Given the description of an element on the screen output the (x, y) to click on. 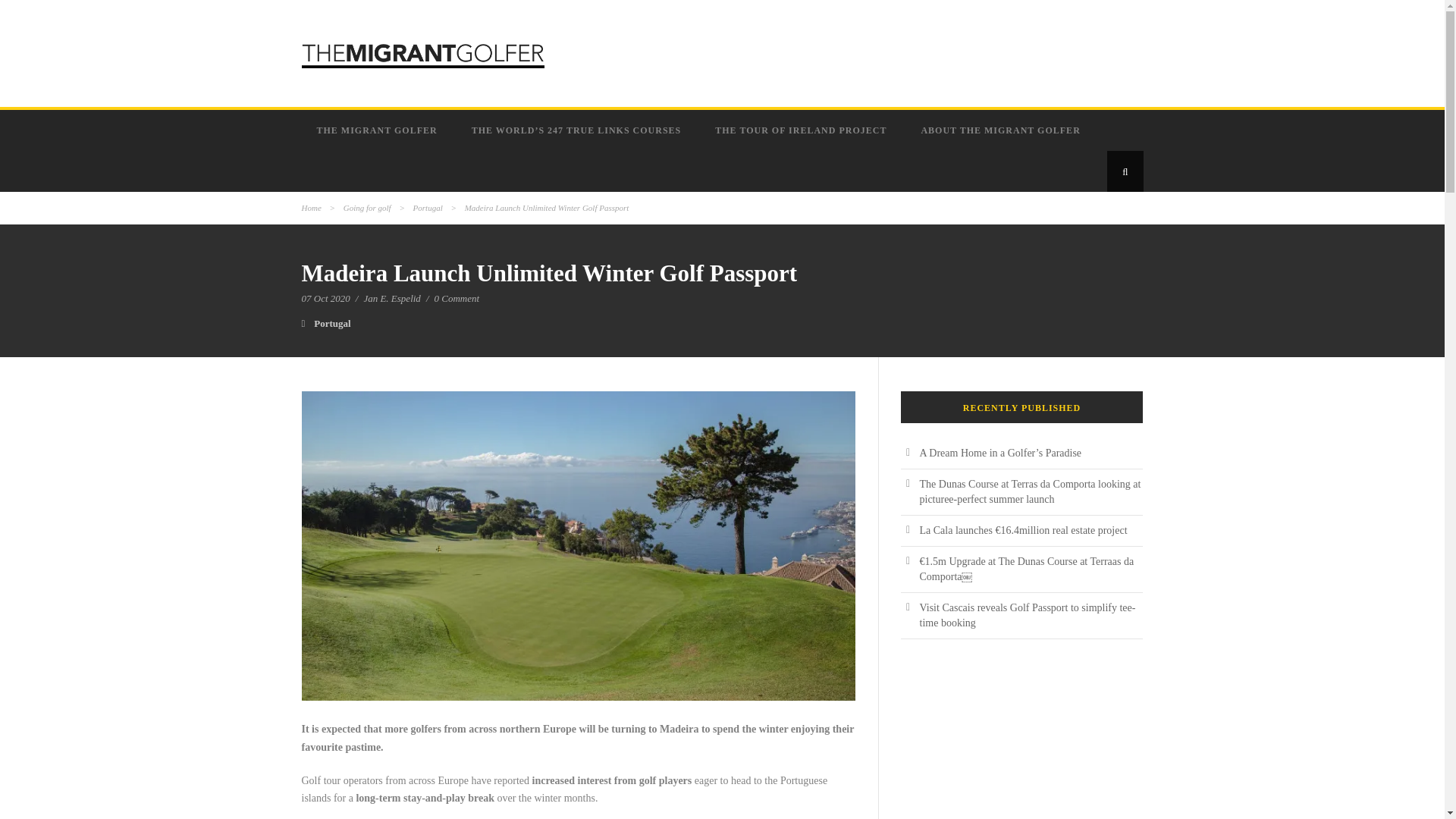
0 Comment (456, 297)
07 Oct 2020 (325, 297)
Portugal (332, 323)
Jan E. Espelid (391, 297)
Posts by Jan E. Espelid (391, 297)
THE TOUR OF IRELAND PROJECT (802, 129)
About The Migrant Golfer (1002, 129)
Portugal (427, 207)
Going for golf (367, 207)
ABOUT THE MIGRANT GOLFER (1002, 129)
THE MIGRANT GOLFER (379, 129)
Home (311, 207)
The Migrant Golfer (379, 129)
